Given the description of an element on the screen output the (x, y) to click on. 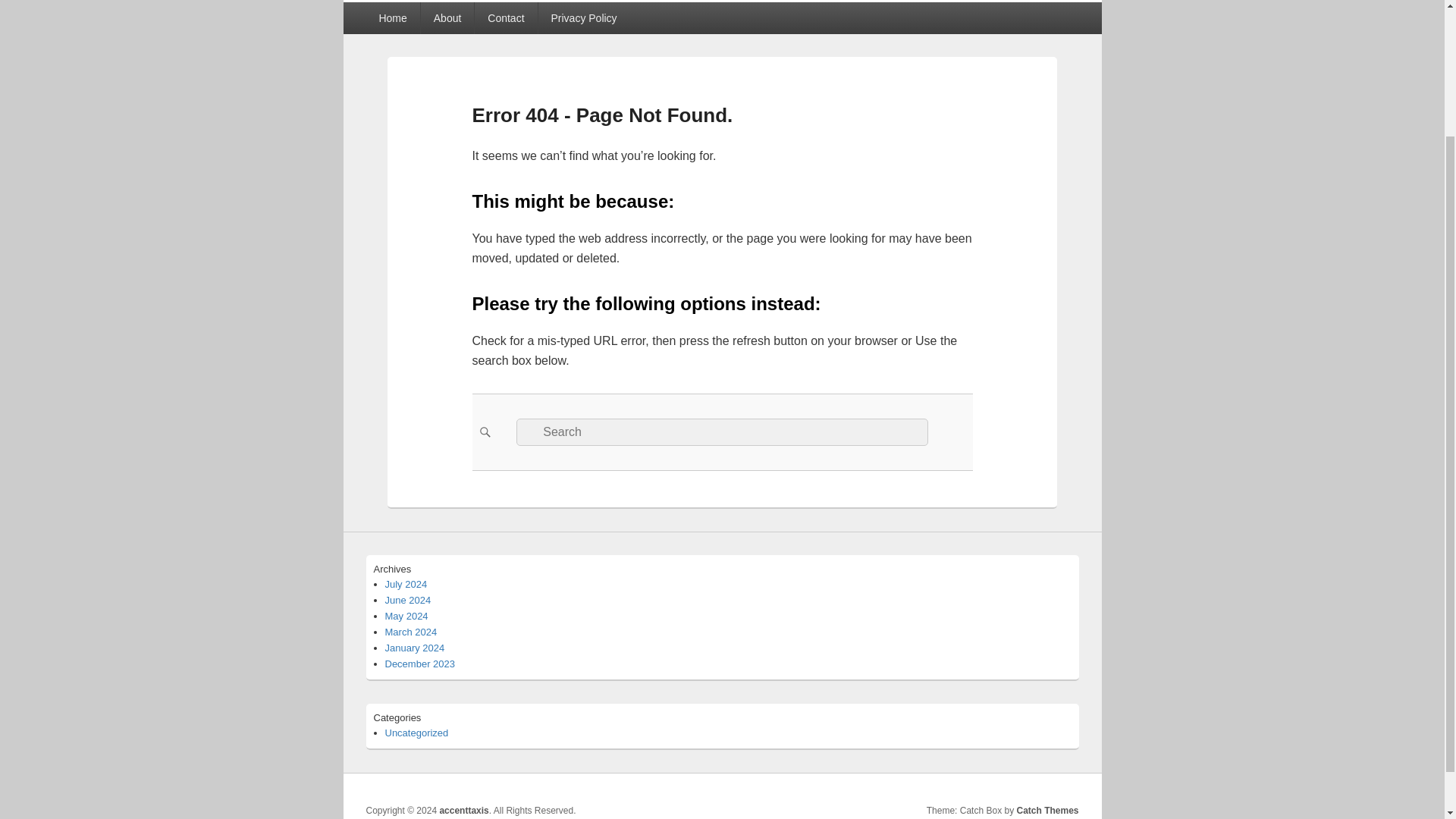
July 2024 (406, 583)
January 2024 (415, 647)
Uncategorized (416, 732)
Catch Themes (1047, 810)
June 2024 (407, 600)
accenttaxis (463, 810)
December 2023 (420, 663)
May 2024 (406, 615)
accenttaxis (463, 810)
Catch Themes (1047, 810)
accenttaxis (439, 6)
March 2024 (411, 632)
Privacy Policy (584, 18)
Home (392, 18)
Search for: (722, 431)
